Given the description of an element on the screen output the (x, y) to click on. 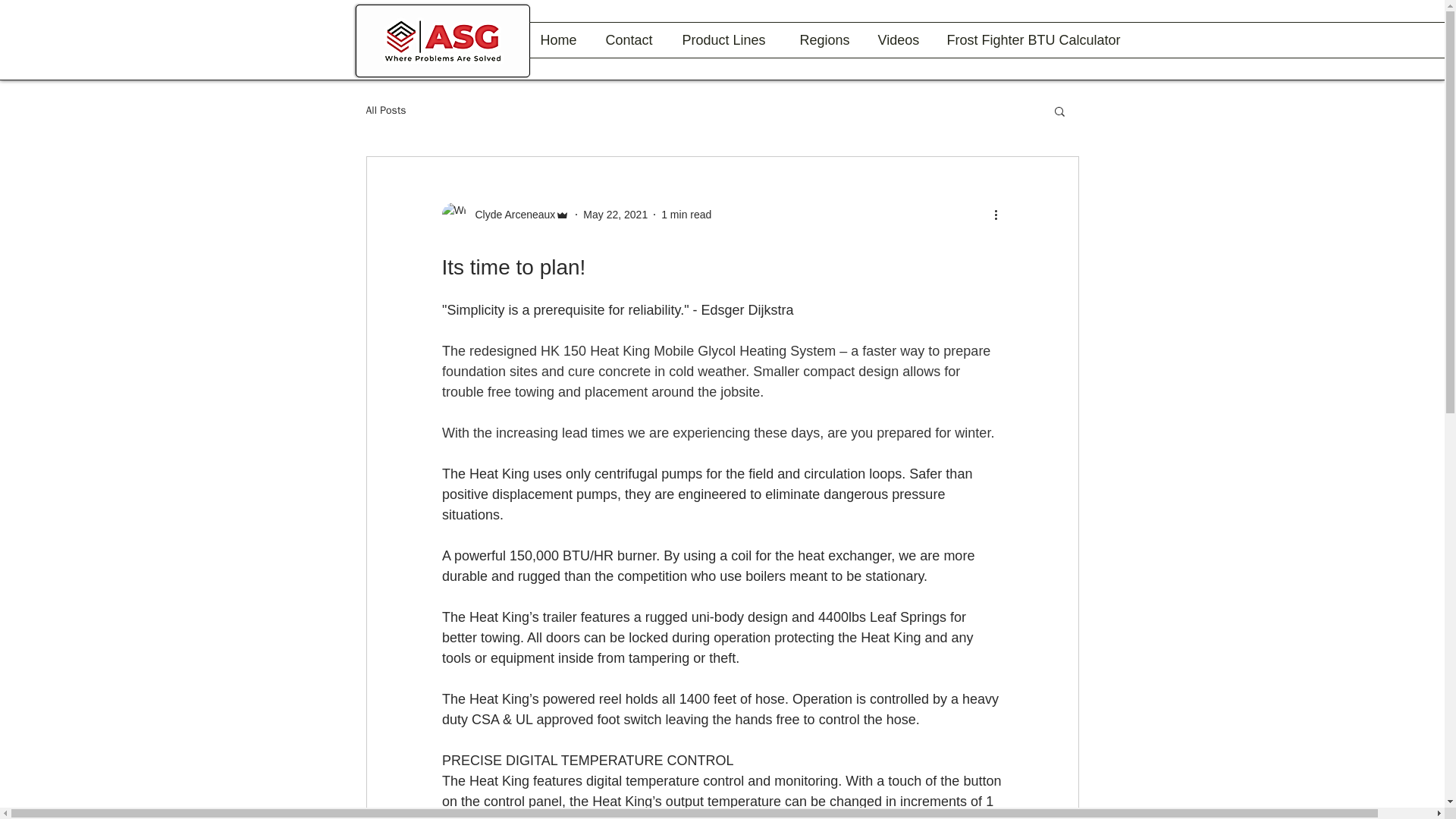
Clyde Arceneaux (505, 214)
All Posts (385, 110)
1 min read (686, 214)
Regions (827, 39)
Home (561, 39)
Product Lines (728, 39)
Videos (900, 39)
Contact (632, 39)
May 22, 2021 (615, 214)
Clyde Arceneaux (509, 213)
